Given the description of an element on the screen output the (x, y) to click on. 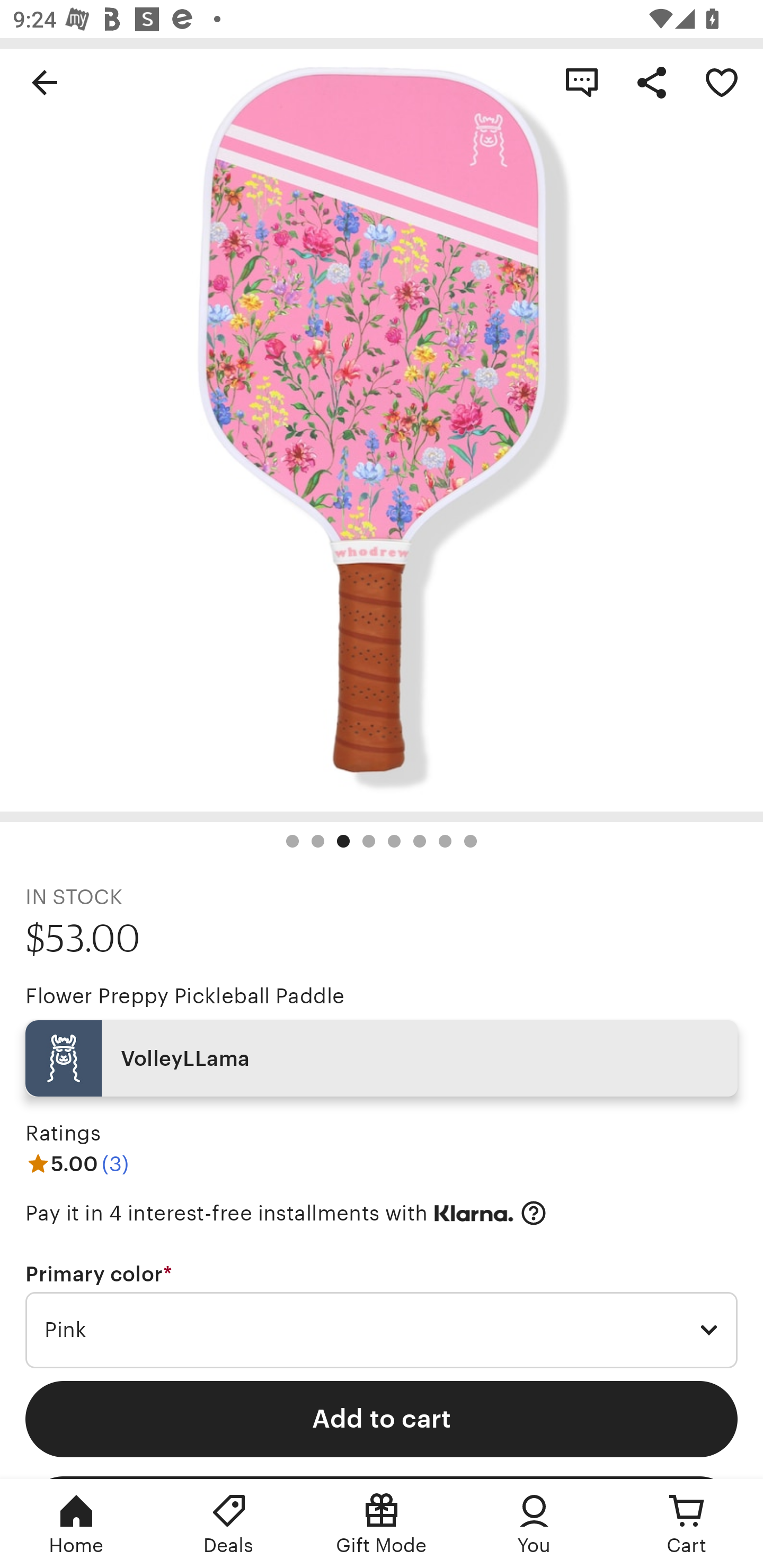
Navigate up (44, 81)
Contact shop (581, 81)
Share (651, 81)
Flower Preppy Pickleball Paddle (184, 996)
VolleyLLama (381, 1058)
Ratings (62, 1133)
5.00 (3) (76, 1163)
Primary color * Required Pink (381, 1315)
Pink (381, 1330)
Add to cart (381, 1418)
Deals (228, 1523)
Gift Mode (381, 1523)
You (533, 1523)
Cart (686, 1523)
